Given the description of an element on the screen output the (x, y) to click on. 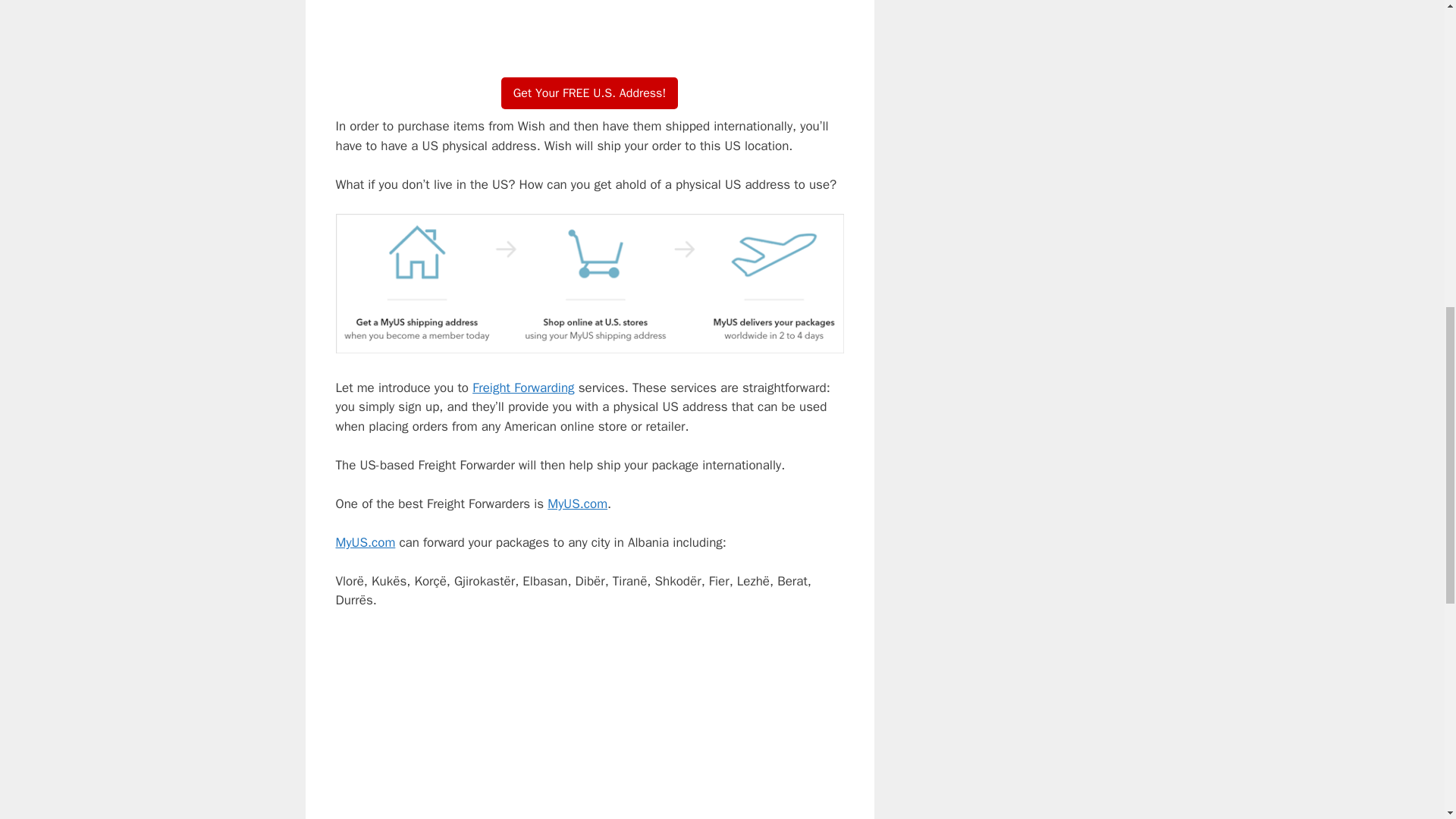
MyUS.com (364, 542)
MyUS.com: How it Works (588, 26)
Get Your FREE U.S. Address! (589, 92)
MyUS.com (577, 503)
Freight Forwarding (522, 387)
